Given the description of an element on the screen output the (x, y) to click on. 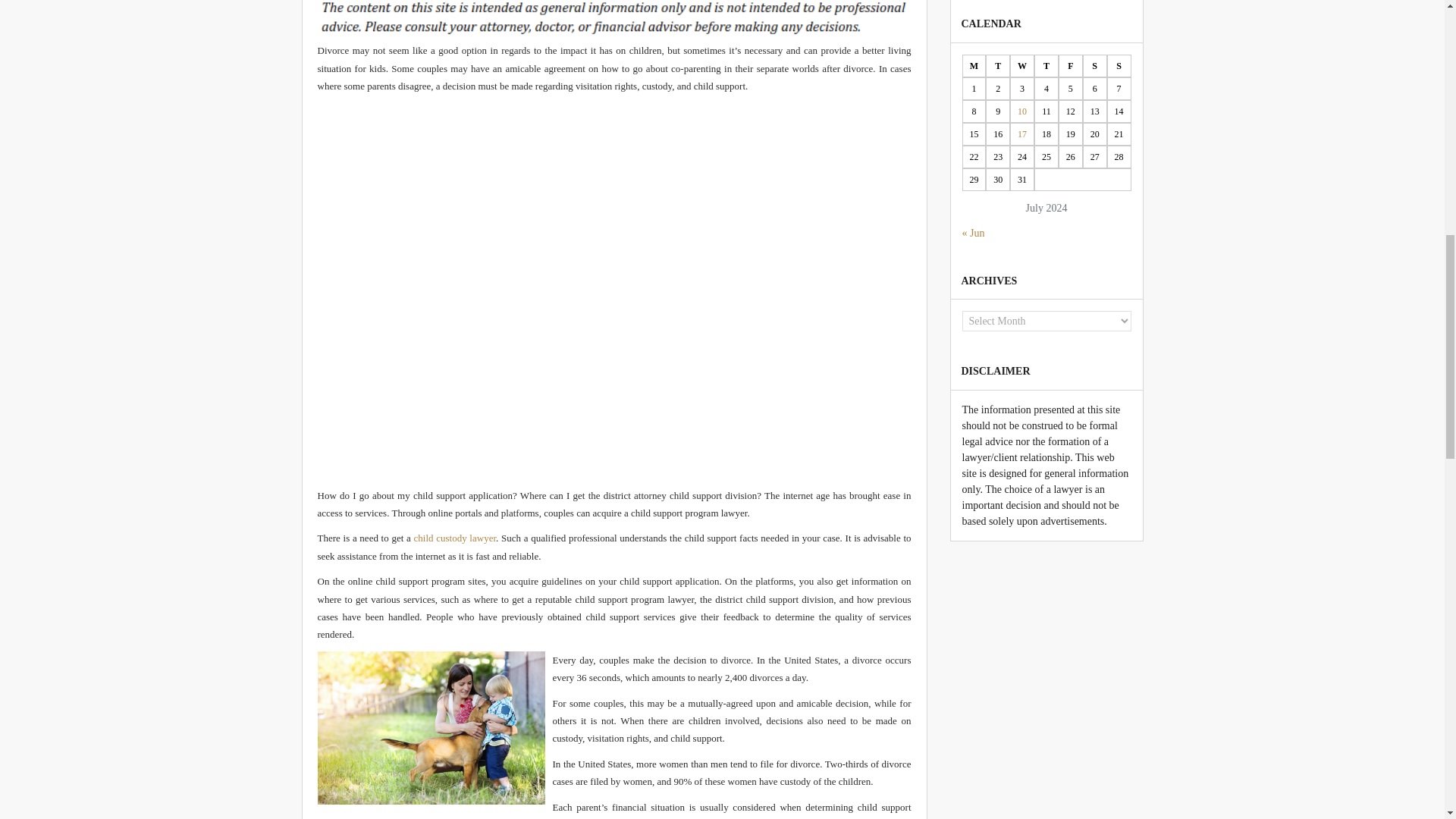
child custody lawyer (454, 537)
Thursday (1045, 65)
Monday (972, 65)
Tuesday (997, 65)
Wednesday (1021, 65)
Friday (1070, 65)
